Given the description of an element on the screen output the (x, y) to click on. 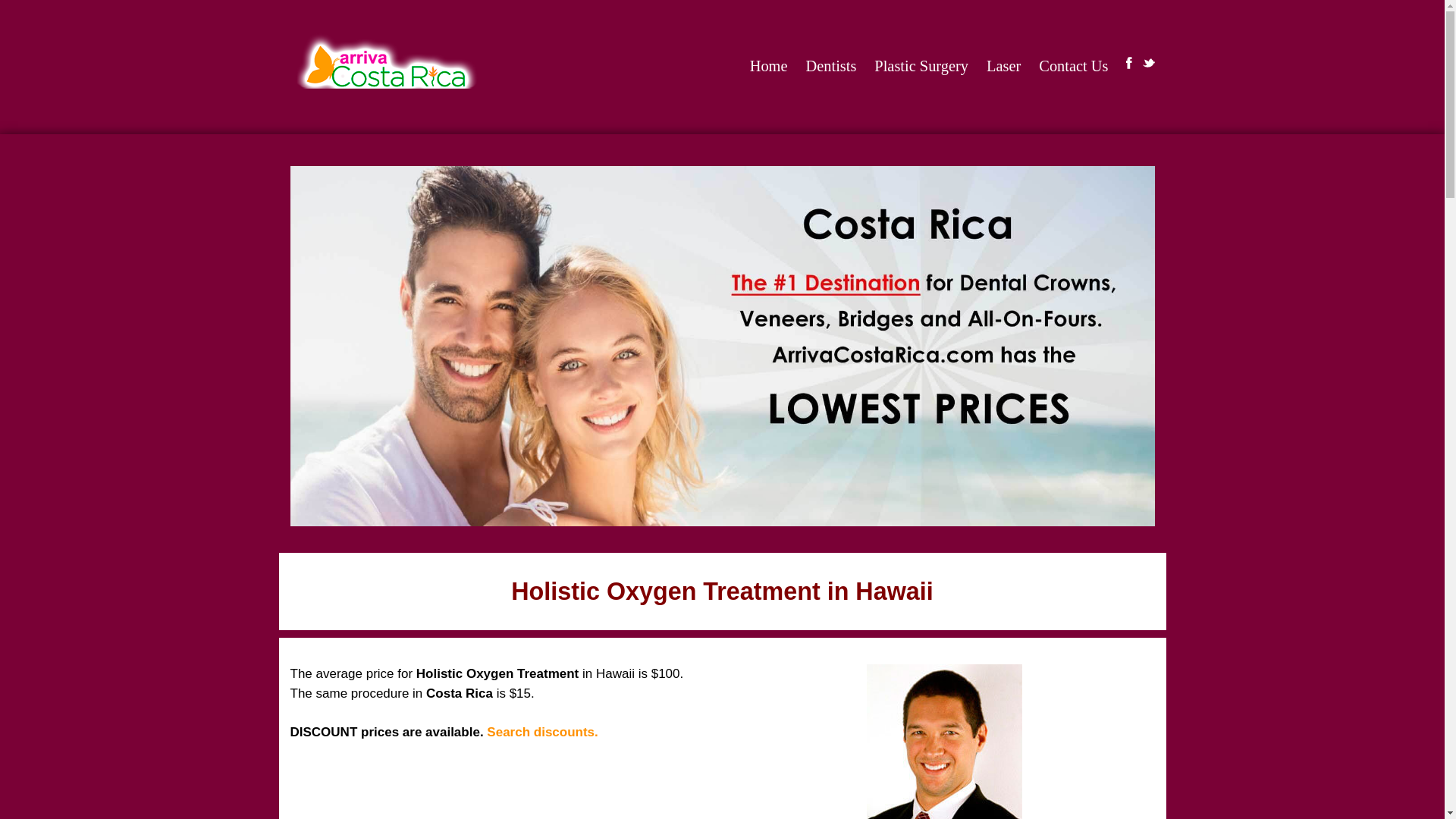
Contact Us (1073, 66)
Plastic Surgery (921, 66)
Laser (1003, 66)
Facebook (1128, 62)
Home (768, 66)
Search discounts. (541, 731)
dr-ignaciovargas (944, 741)
Dentists (831, 66)
Twitter (1147, 62)
